Given the description of an element on the screen output the (x, y) to click on. 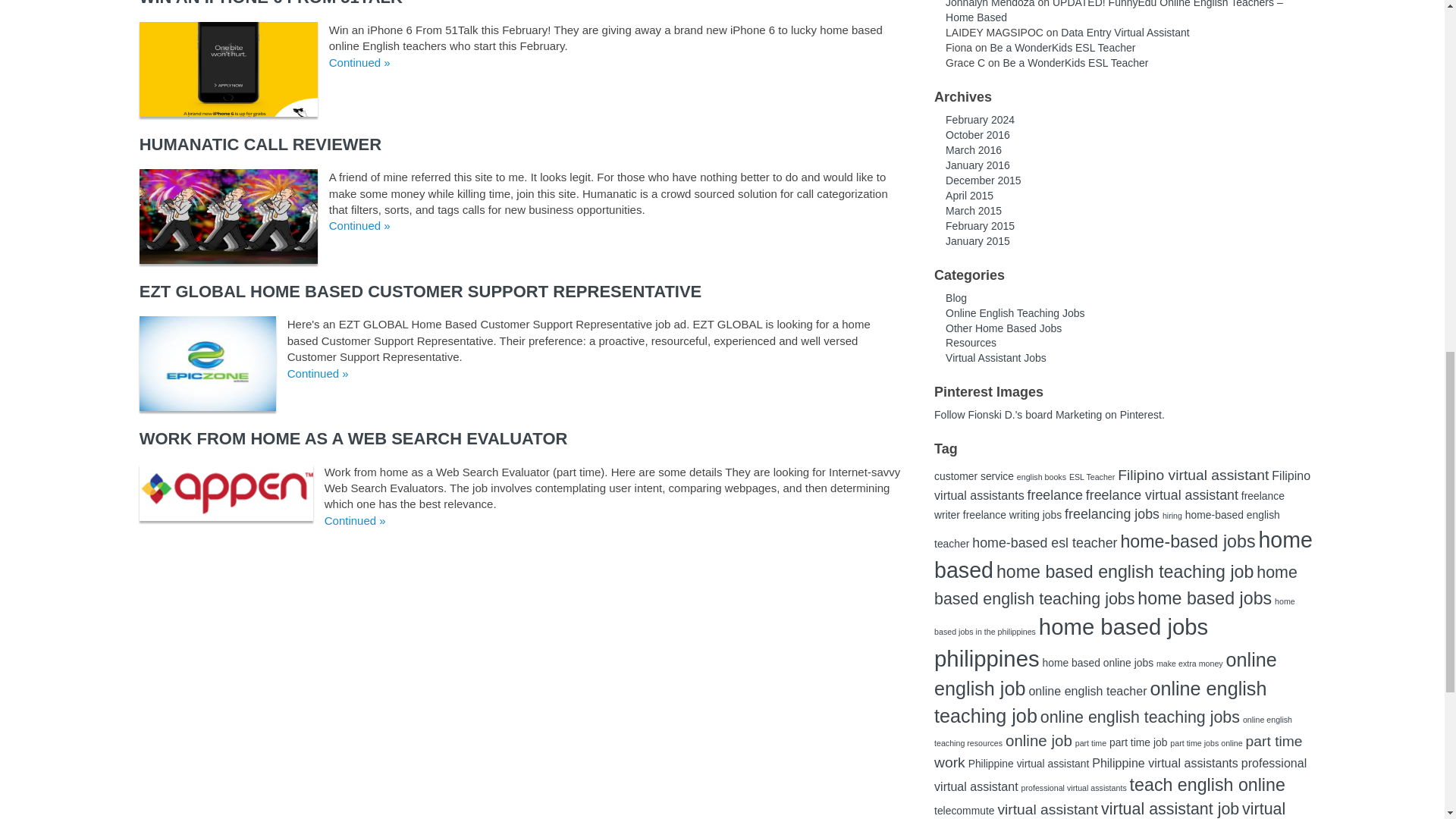
EZT GLOBAL HOME BASED CUSTOMER SUPPORT REPRESENTATIVE (420, 291)
HUMANATIC CALL REVIEWER (260, 144)
WIN AN IPHONE 6 FROM 51TALK (271, 3)
WORK FROM HOME AS A WEB SEARCH EVALUATOR (353, 438)
